Given the description of an element on the screen output the (x, y) to click on. 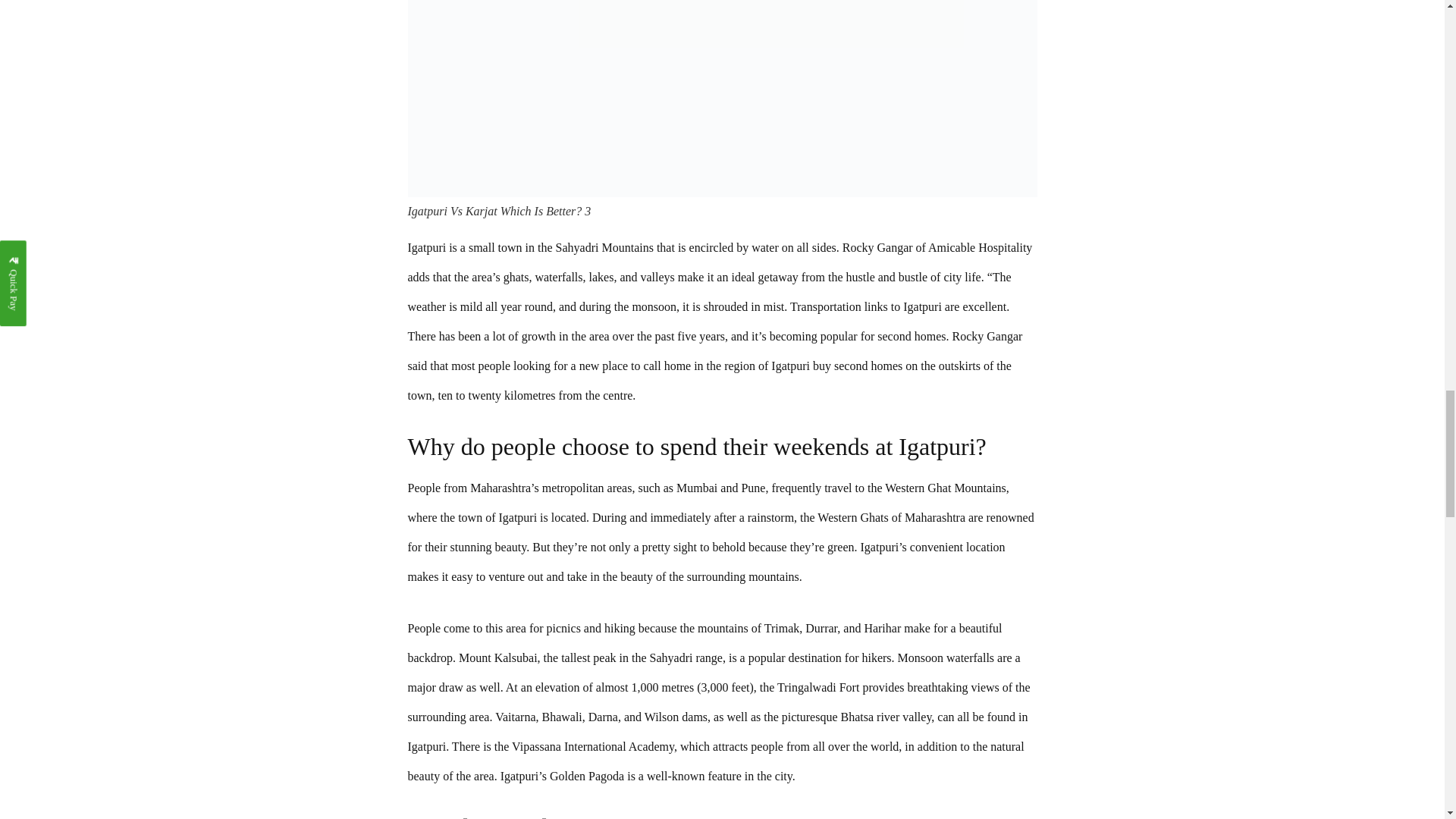
Igatpuri Vs Karjat Which Is Better? 2 (721, 98)
